Given the description of an element on the screen output the (x, y) to click on. 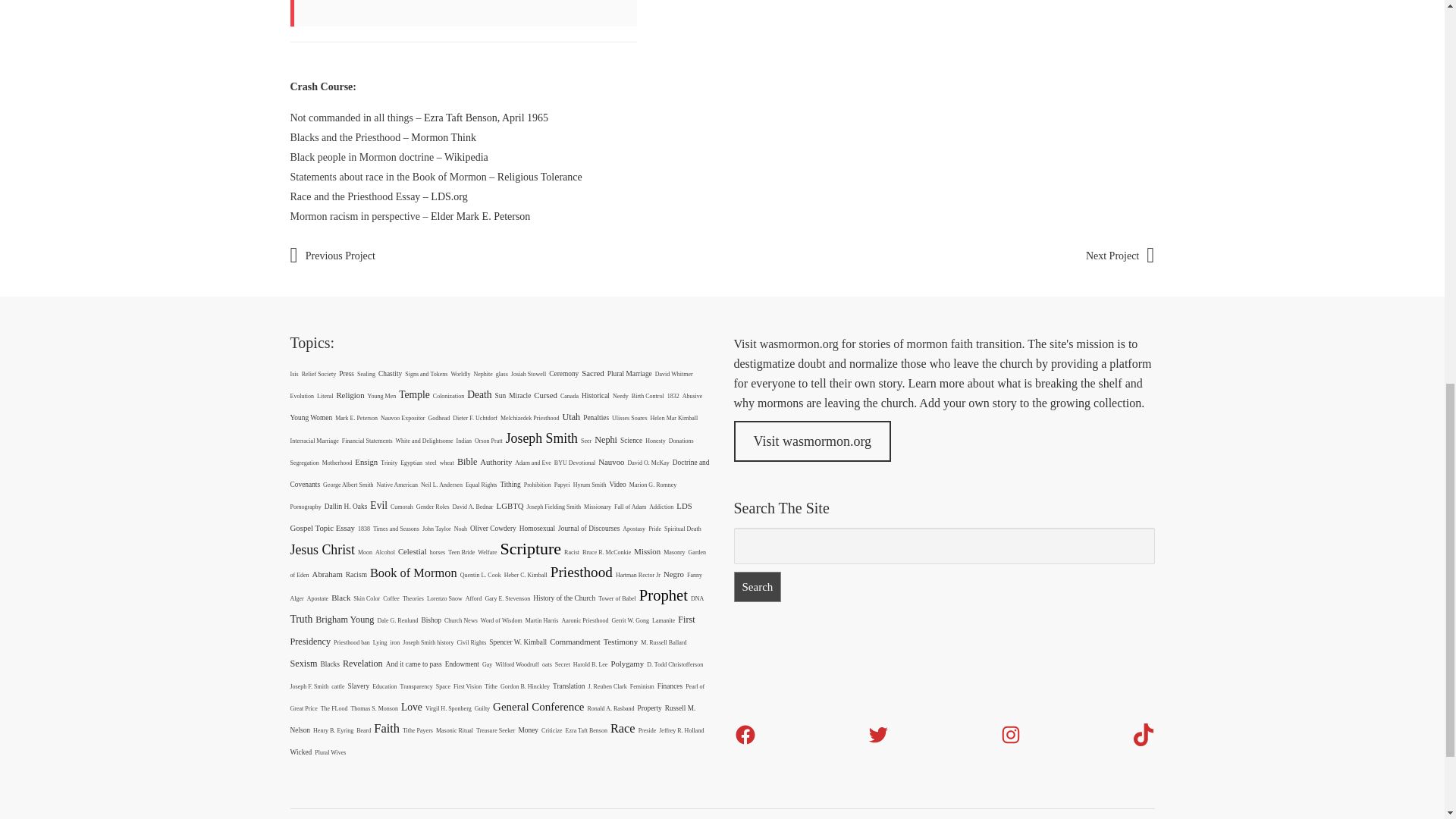
Worldly (459, 374)
45 topics (350, 394)
Search (757, 586)
Next Project (1120, 255)
Blacks and the Priesthood (344, 137)
Press (346, 373)
16 topics (301, 396)
Chastity (389, 373)
Black people in Mormon doctrine (361, 156)
Race and the Priesthood Essay (354, 196)
23 topics (629, 373)
3 topics (528, 374)
Sealing (365, 374)
20 topics (563, 373)
48 topics (592, 372)
